Given the description of an element on the screen output the (x, y) to click on. 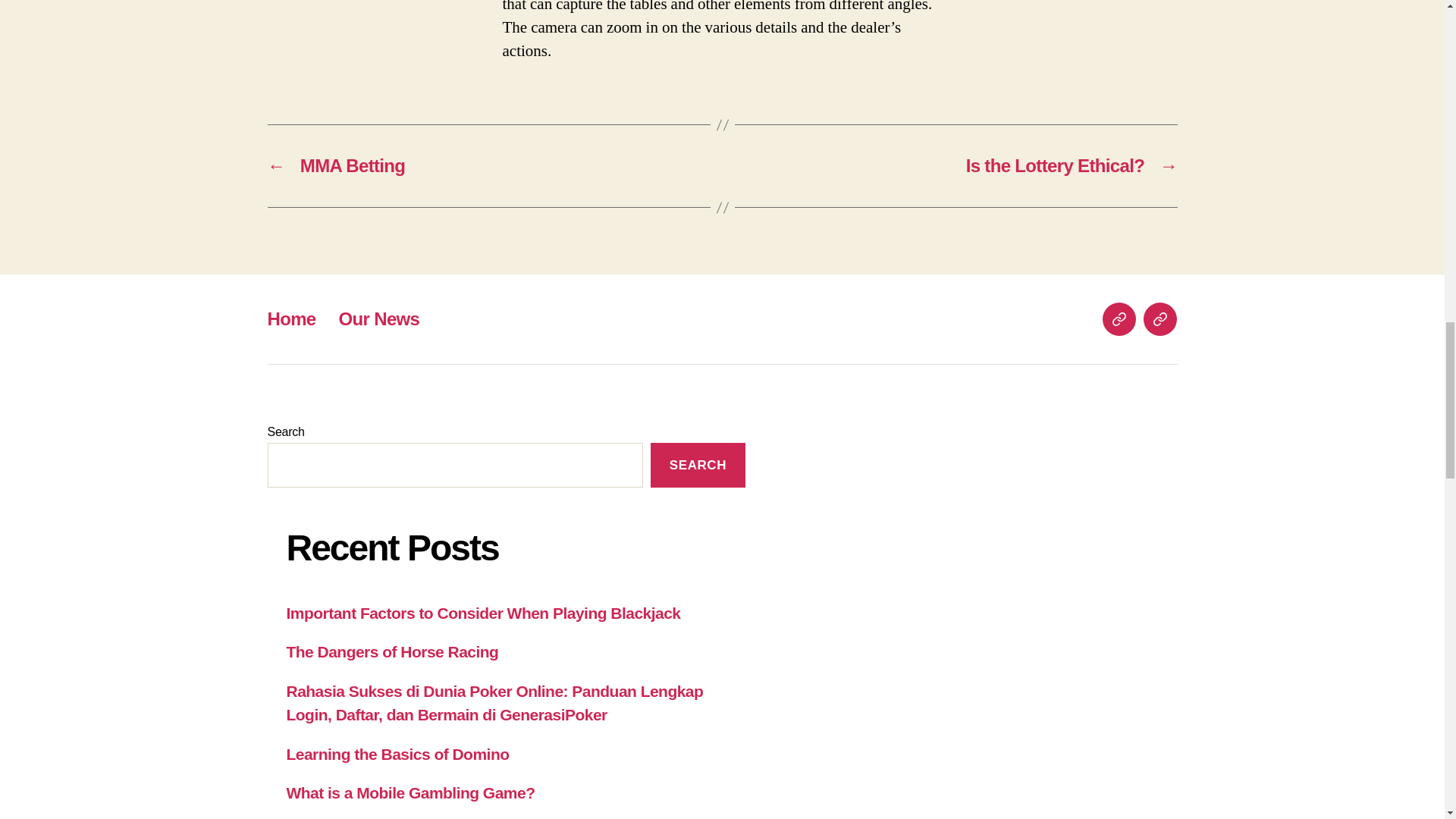
What is a Mobile Gambling Game? (410, 792)
SEARCH (697, 465)
Our News (1159, 318)
Home (290, 318)
Home (1118, 318)
Important Factors to Consider When Playing Blackjack (483, 612)
The Dangers of Horse Racing (392, 651)
Our News (379, 318)
Learning the Basics of Domino (397, 753)
